Given the description of an element on the screen output the (x, y) to click on. 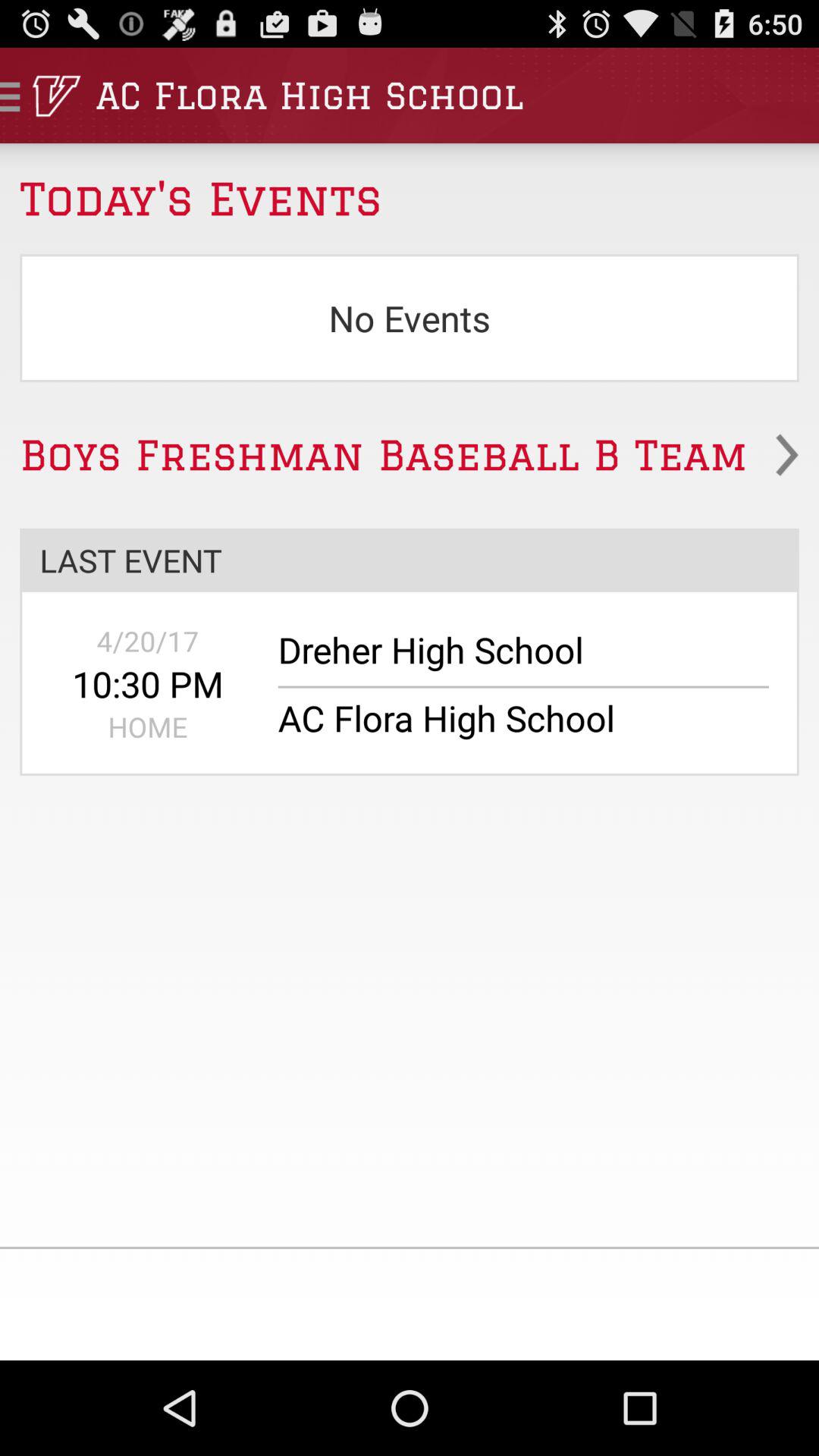
launch the no events item (409, 318)
